Given the description of an element on the screen output the (x, y) to click on. 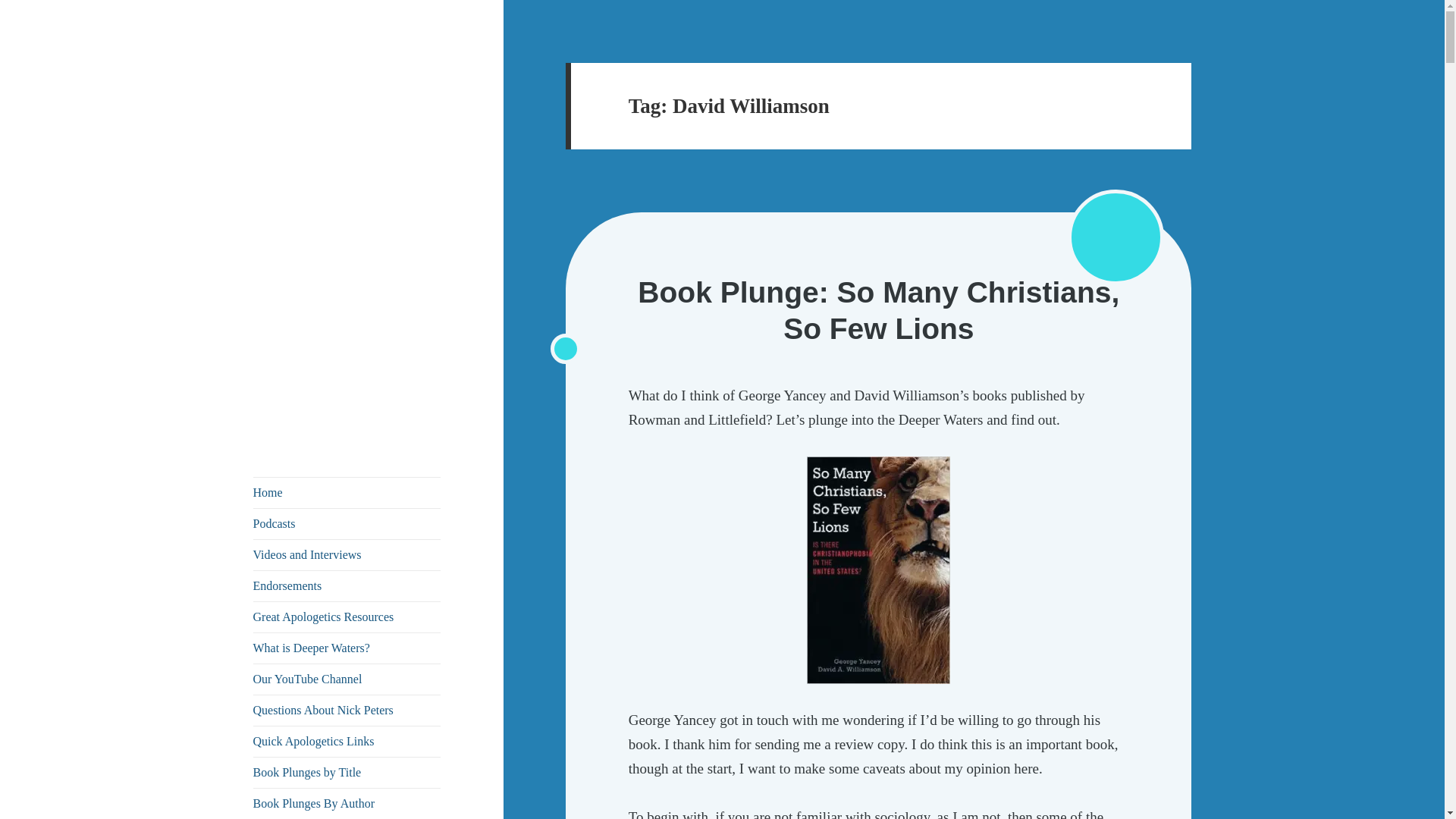
Book Plunges by Title (347, 772)
Podcasts (347, 523)
Book Plunges By Author (347, 803)
Home (347, 492)
Quick Apologetics Links (347, 741)
Videos and Interviews (347, 554)
Questions About Nick Peters (347, 710)
Our YouTube Channel (347, 679)
What is Deeper Waters? (347, 648)
Great Apologetics Resources (347, 616)
Endorsements (347, 585)
